Given the description of an element on the screen output the (x, y) to click on. 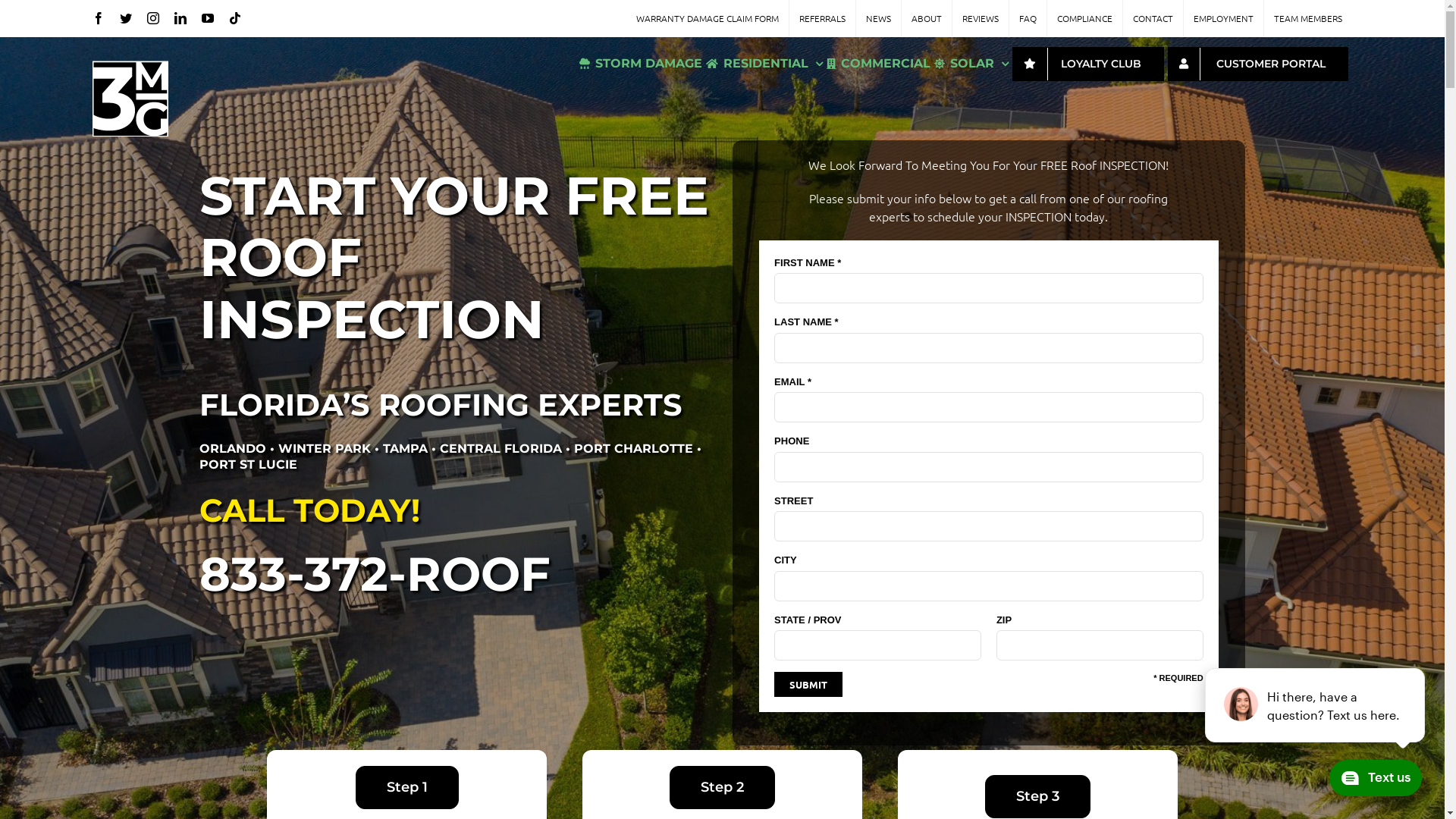
SOLAR Element type: text (971, 63)
Instagram Element type: text (153, 18)
FAQ Element type: text (1027, 18)
podium webchat widget prompt Element type: hover (1315, 705)
Step 2 Element type: text (722, 787)
LOYALTY CLUB Element type: text (1088, 63)
YouTube Element type: text (207, 18)
REVIEWS Element type: text (980, 18)
Tiktok Element type: text (235, 18)
TEAM MEMBERS Element type: text (1308, 18)
COMMERCIAL Element type: text (878, 63)
REFERRALS Element type: text (822, 18)
CUSTOMER PORTAL Element type: text (1257, 63)
Twitter Element type: text (125, 18)
NEWS Element type: text (878, 18)
EMPLOYMENT Element type: text (1223, 18)
RESIDENTIAL Element type: text (764, 63)
Submit Element type: text (808, 683)
Facebook Element type: text (98, 18)
WARRANTY DAMAGE CLAIM FORM Element type: text (707, 18)
COMPLIANCE Element type: text (1084, 18)
Step 1 Element type: text (406, 787)
Step 3 Element type: text (1037, 796)
STORM DAMAGE Element type: text (640, 63)
CONTACT Element type: text (1153, 18)
ABOUT Element type: text (926, 18)
LinkedIn Element type: text (180, 18)
